Given the description of an element on the screen output the (x, y) to click on. 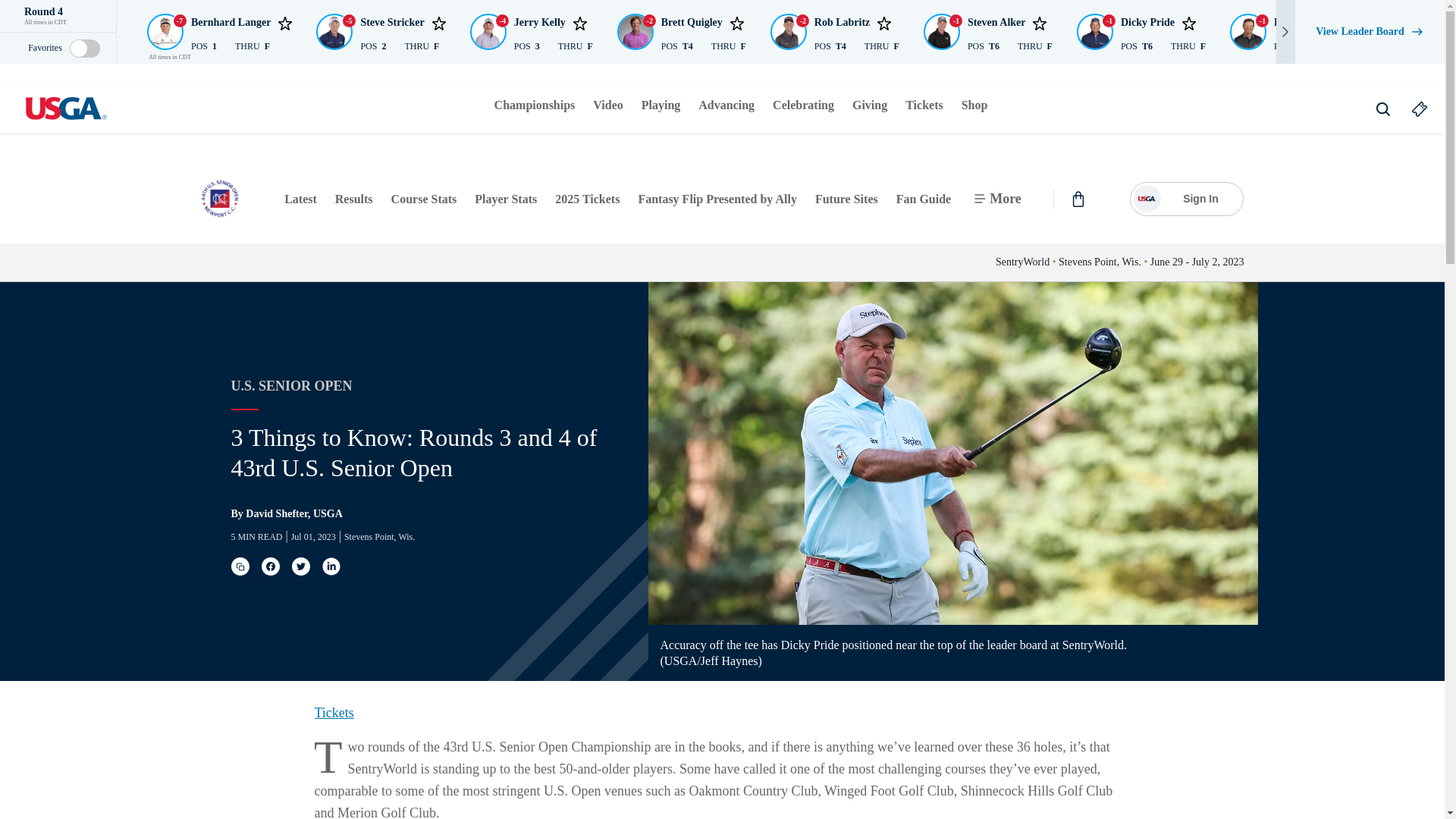
Copy Current Item (239, 566)
View Leader Board (1369, 31)
Playing (661, 104)
Twitter (299, 566)
Video (607, 104)
Facebook (269, 566)
LinkedIn (330, 566)
Championships (535, 104)
